Given the description of an element on the screen output the (x, y) to click on. 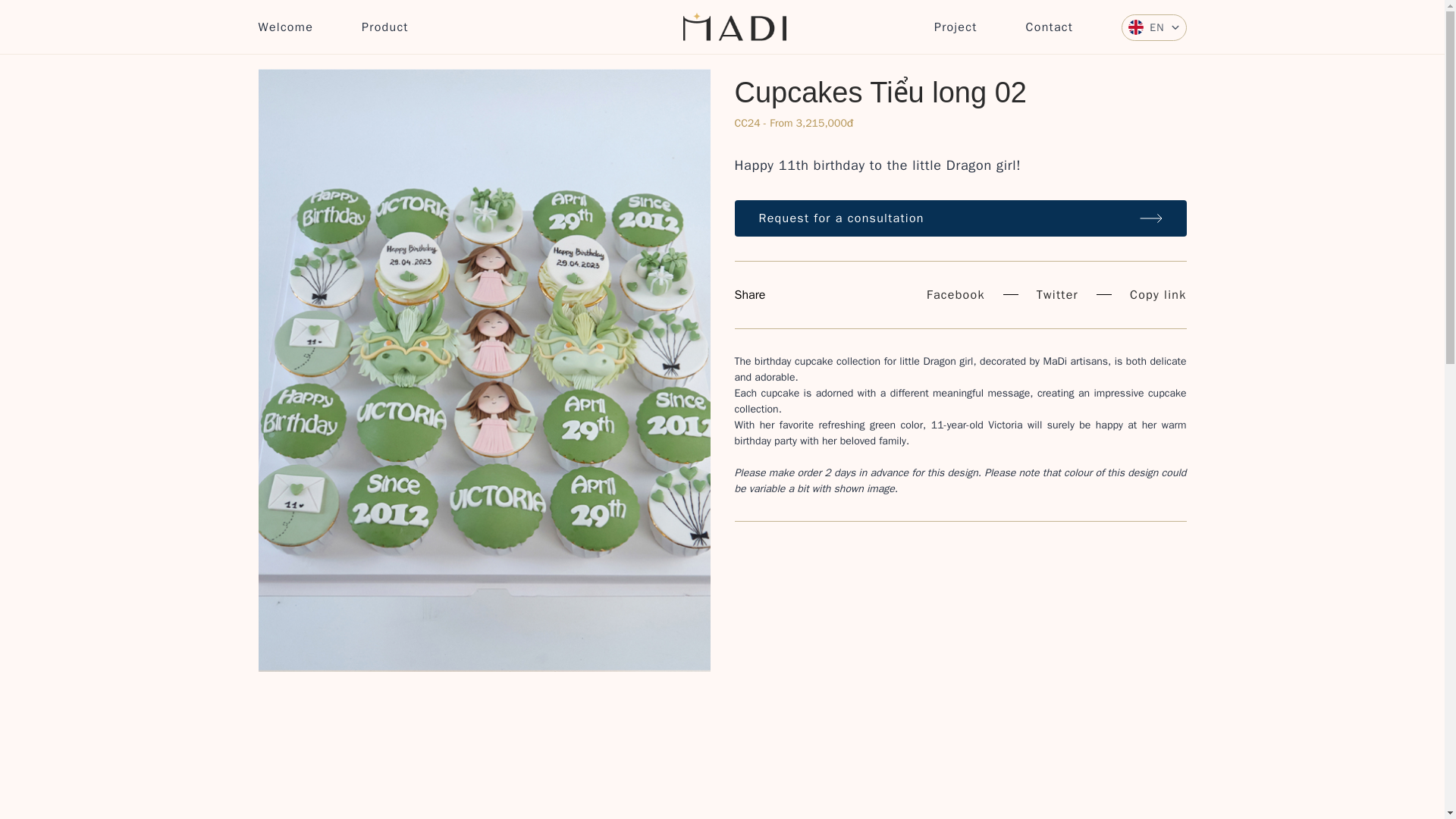
cupcake collection (959, 400)
Contact (1050, 26)
Facebook (955, 294)
Welcome (285, 26)
Request for a consultation (959, 217)
MaDi artisans (1075, 360)
Project (955, 26)
Product (385, 26)
Dragon girl (947, 360)
Twitter (1057, 294)
